Given the description of an element on the screen output the (x, y) to click on. 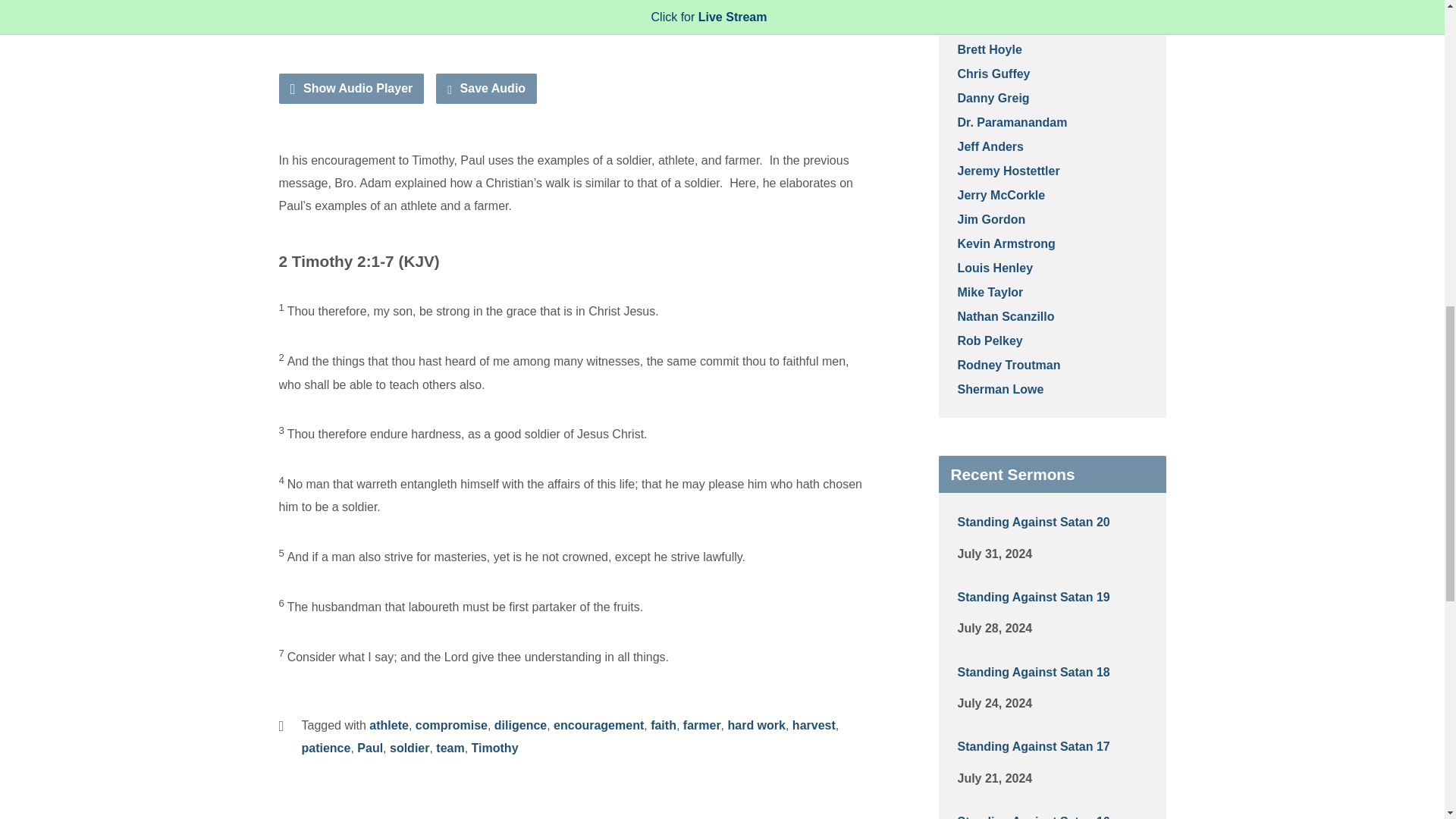
Show Audio Player (352, 88)
encouragement (598, 725)
Standing Against Satan 17 (1032, 746)
compromise (450, 725)
Standing Against Satan 16 (1032, 816)
Standing Against Satan 18 (1032, 671)
athlete (389, 725)
Standing Against Satan 20 (1032, 521)
Standing Against Satan 19 (1032, 596)
Save Audio (486, 88)
